Given the description of an element on the screen output the (x, y) to click on. 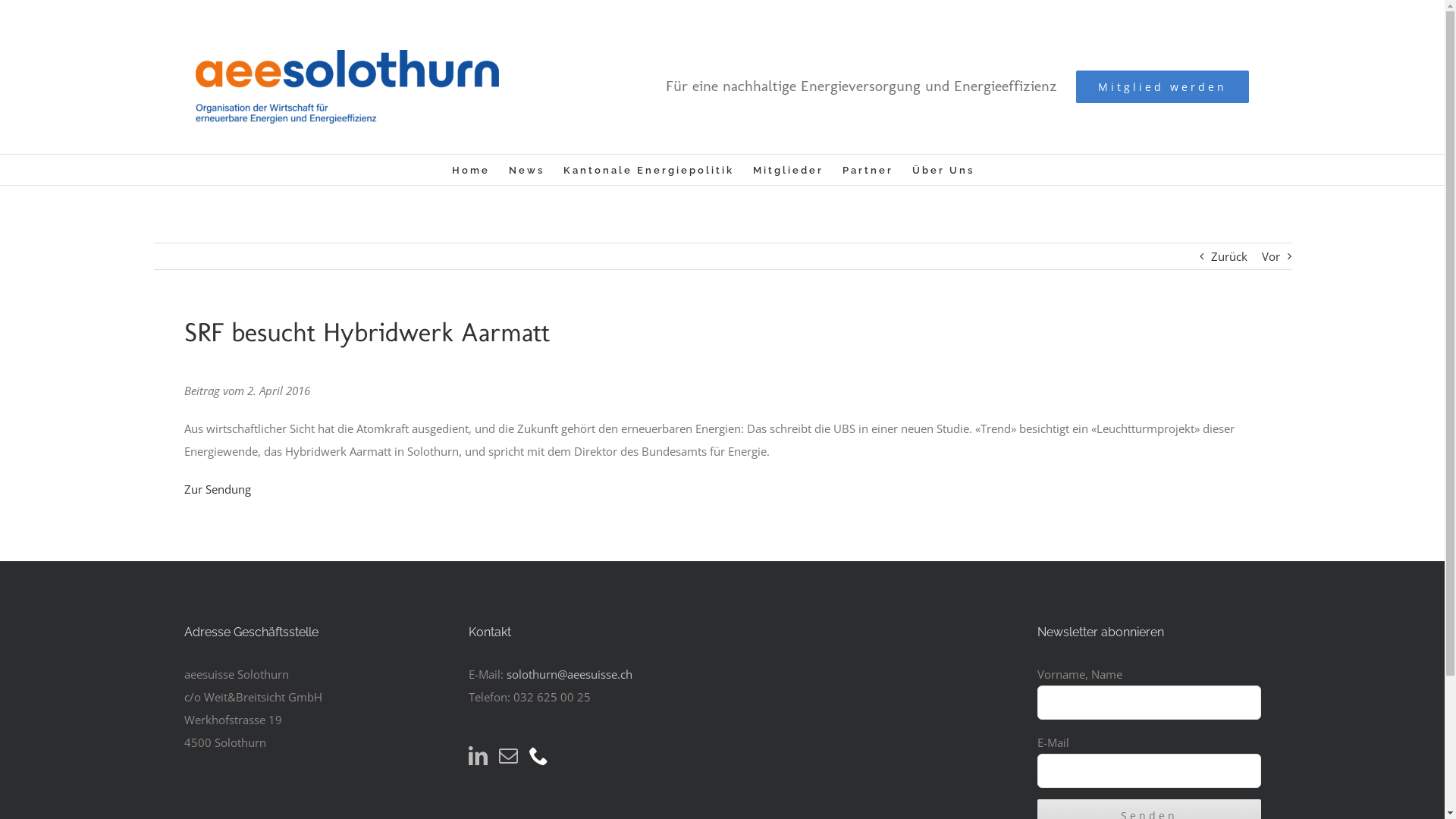
News Element type: text (525, 169)
Vor Element type: text (1270, 256)
Mitglied werden Element type: text (1162, 86)
Mitglieder Element type: text (787, 169)
Zur Sendung Element type: text (216, 488)
Partner Element type: text (866, 169)
Home Element type: text (470, 169)
solothurn@aeesuisse.ch Element type: text (569, 673)
Kantonale Energiepolitik Element type: text (647, 169)
